Given the description of an element on the screen output the (x, y) to click on. 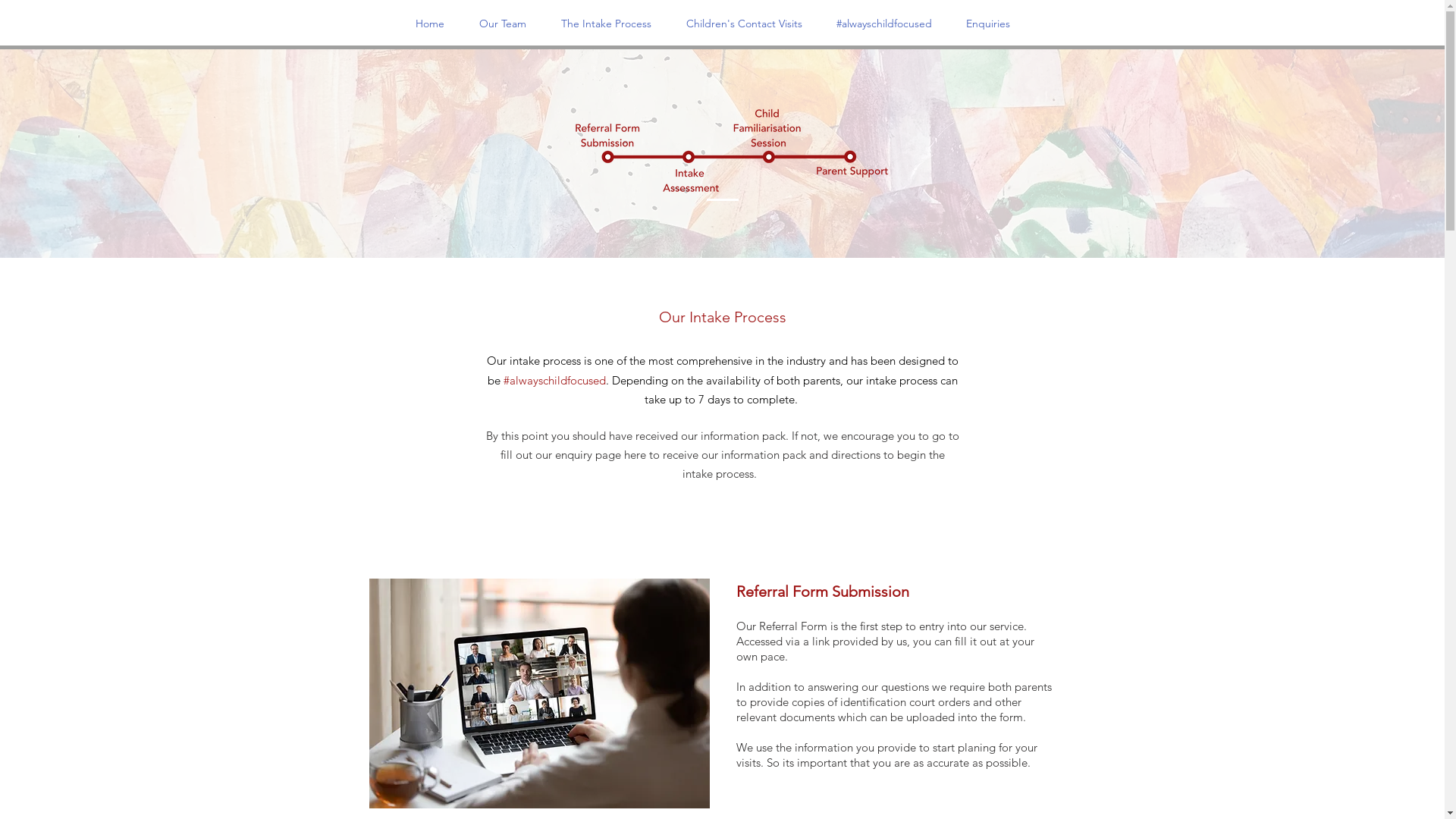
Our Team Element type: text (501, 23)
The Intake Process Element type: text (605, 23)
Children's Contact Visits Element type: text (743, 23)
#alwayschildfocused Element type: text (883, 23)
Home Element type: text (429, 23)
Enquiries Element type: text (988, 23)
